Given the description of an element on the screen output the (x, y) to click on. 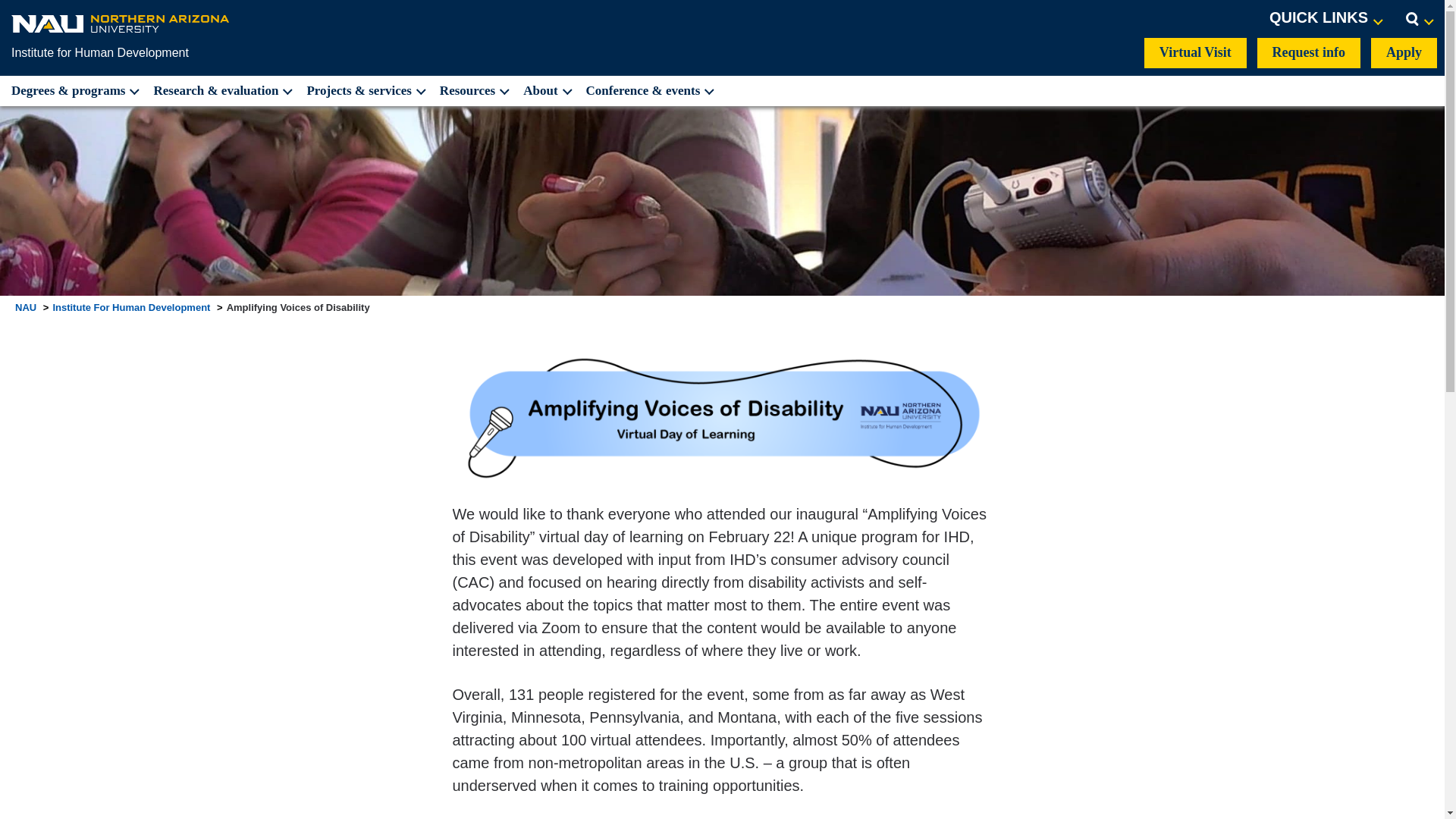
Institute for Human Development (100, 52)
Virtual Visit (1195, 52)
QUICK LINKS (1325, 18)
Request info (1309, 52)
NAU Home (121, 22)
Apply (1404, 52)
